Given the description of an element on the screen output the (x, y) to click on. 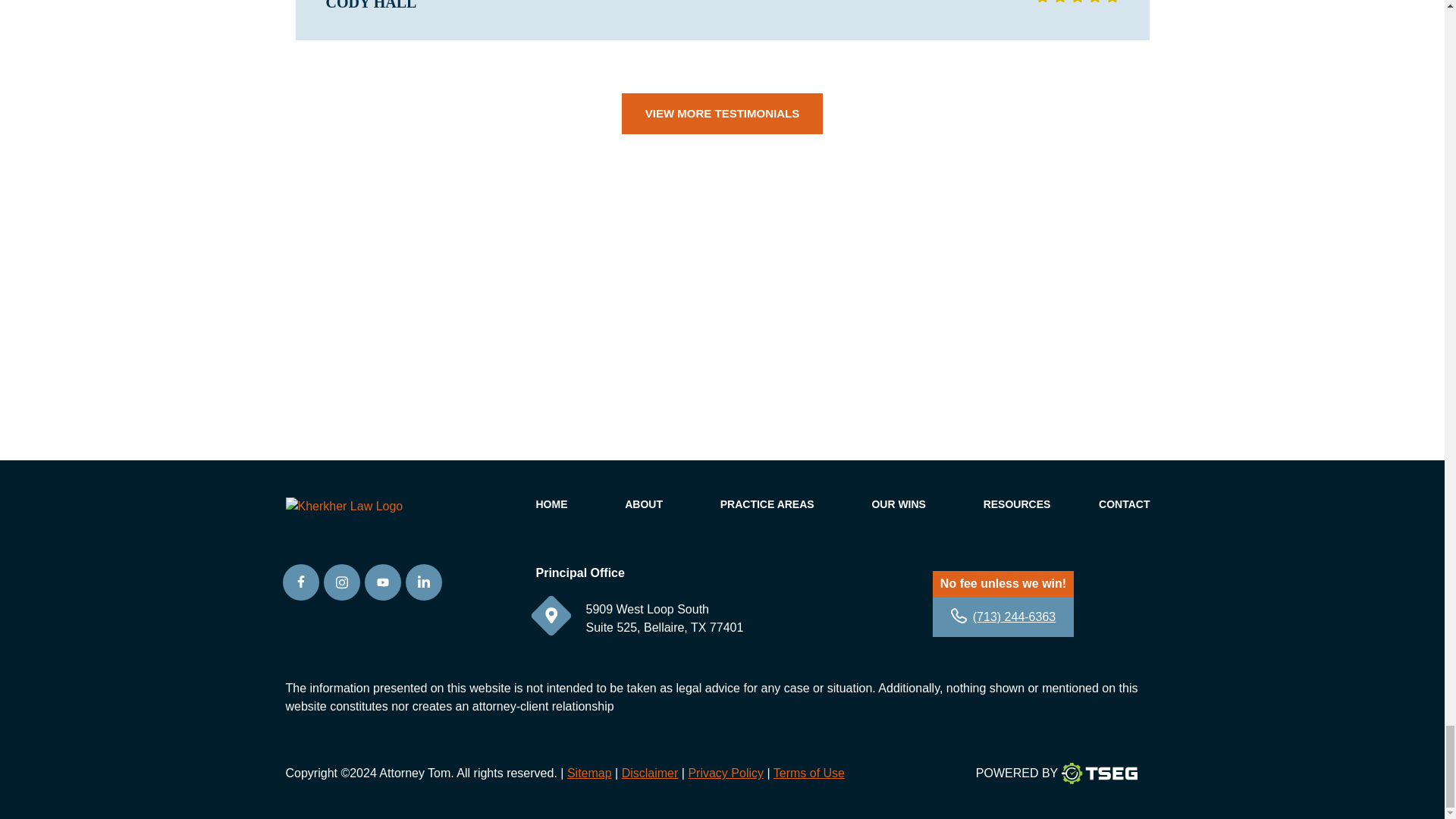
Disclaimer (649, 772)
RESOURCES (1017, 503)
CONTACT (1124, 503)
Sitemap (589, 772)
VIEW MORE TESTIMONIALS (721, 114)
OUR WINS (898, 503)
ABOUT (643, 503)
Privacy Policy (724, 772)
HOME (551, 503)
PRACTICE AREAS (766, 503)
